Given the description of an element on the screen output the (x, y) to click on. 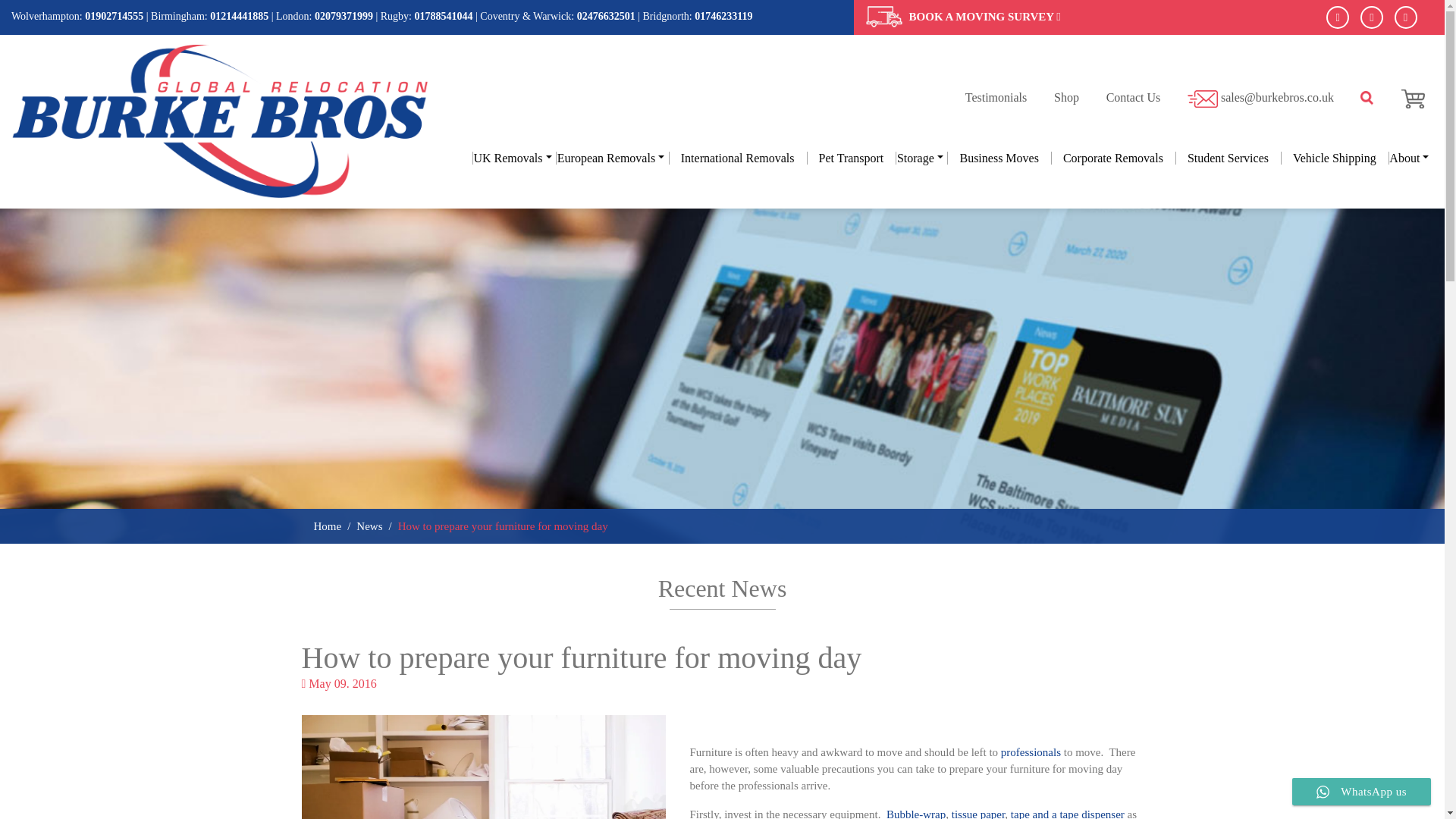
01214441885 (238, 16)
UK Removals (513, 158)
02476632501 (605, 16)
Contact Us (1133, 97)
01788541044 (442, 16)
02079371999 (343, 16)
BOOK A MOVING SURVEY (984, 16)
Testimonials (996, 97)
Shop (1066, 97)
01746233119 (723, 16)
